Given the description of an element on the screen output the (x, y) to click on. 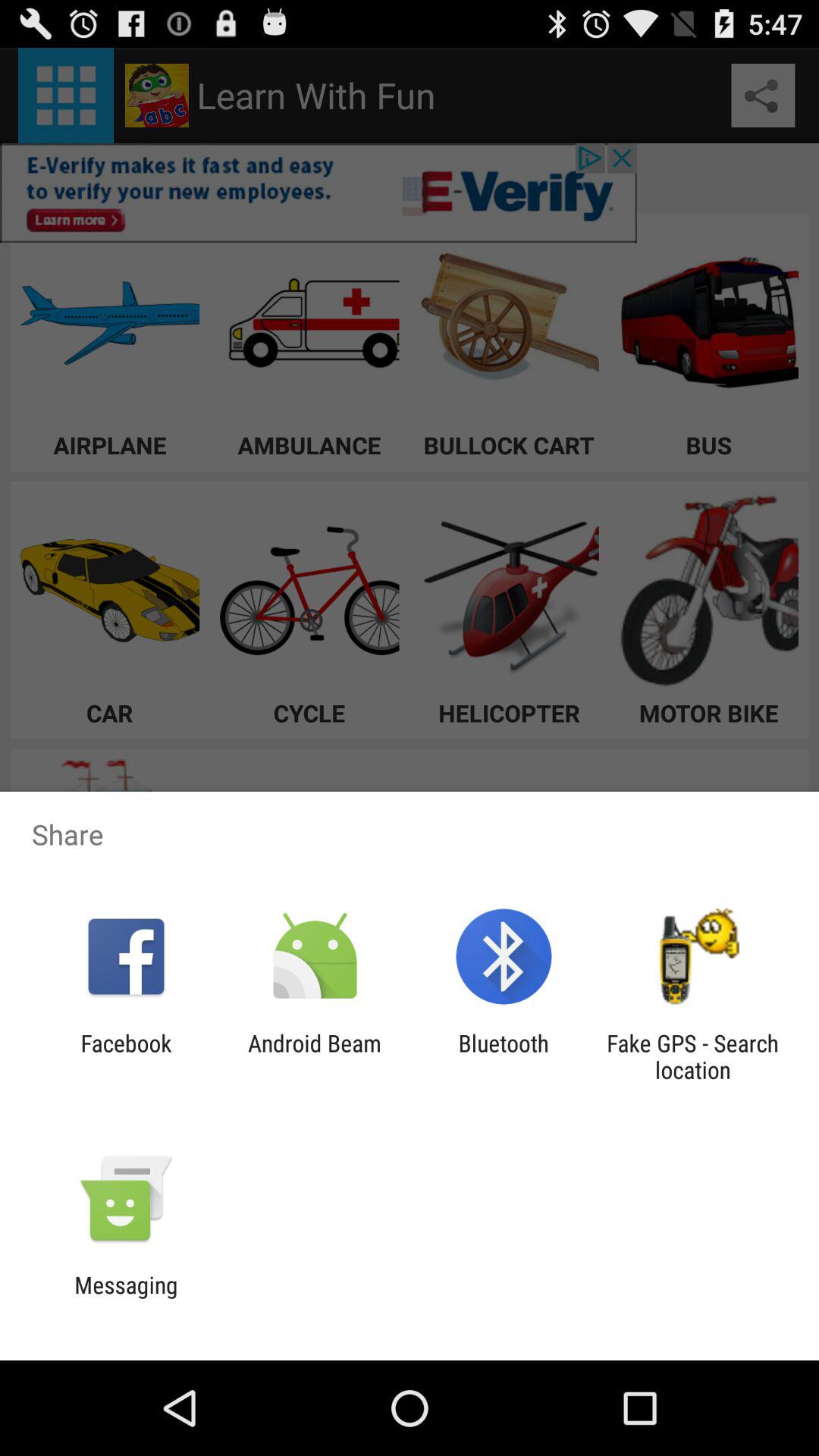
tap the icon next to fake gps search (503, 1056)
